Given the description of an element on the screen output the (x, y) to click on. 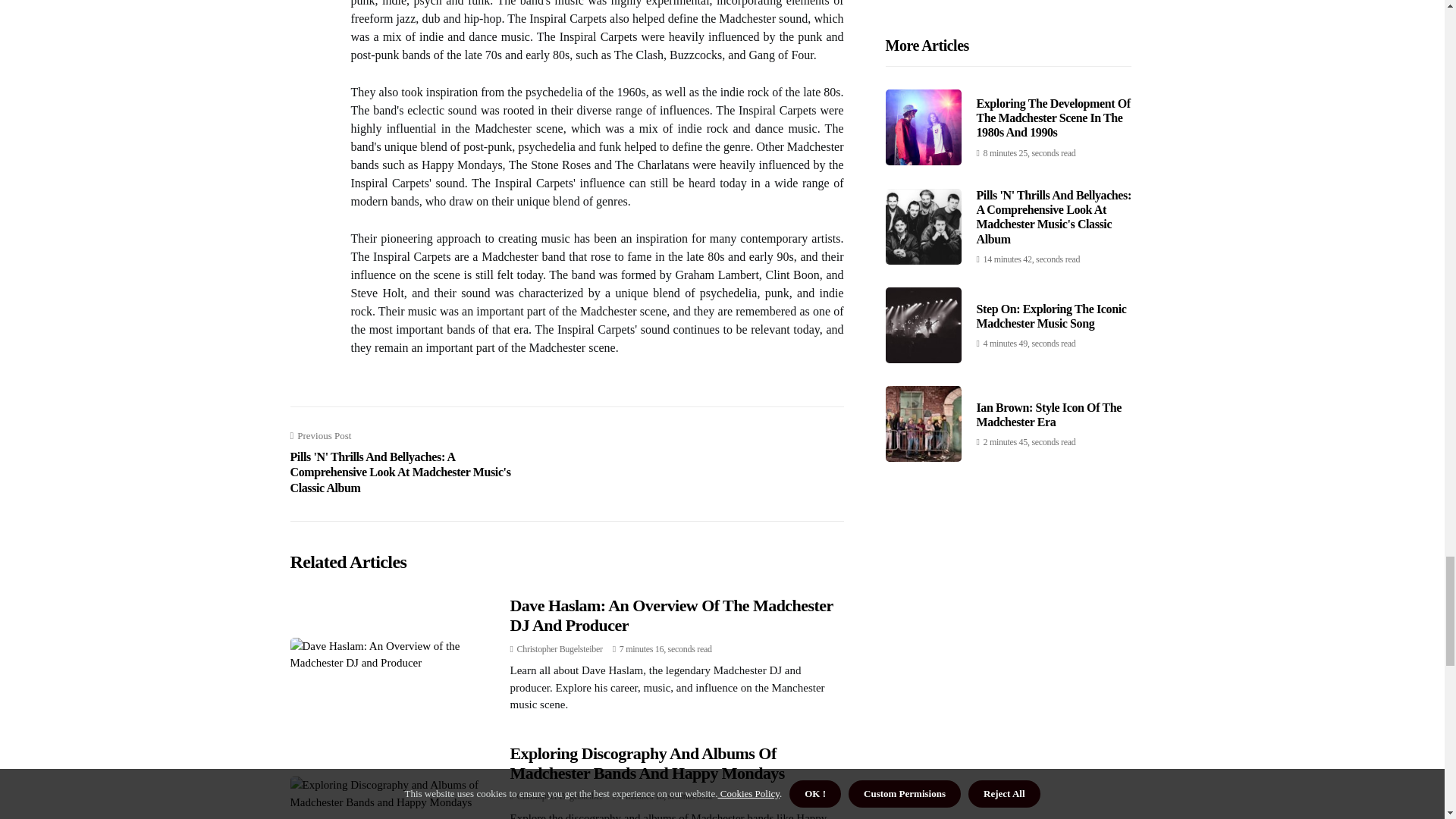
Posts by Christopher Bugelsteiber (559, 796)
Posts by Christopher Bugelsteiber (559, 648)
